Given the description of an element on the screen output the (x, y) to click on. 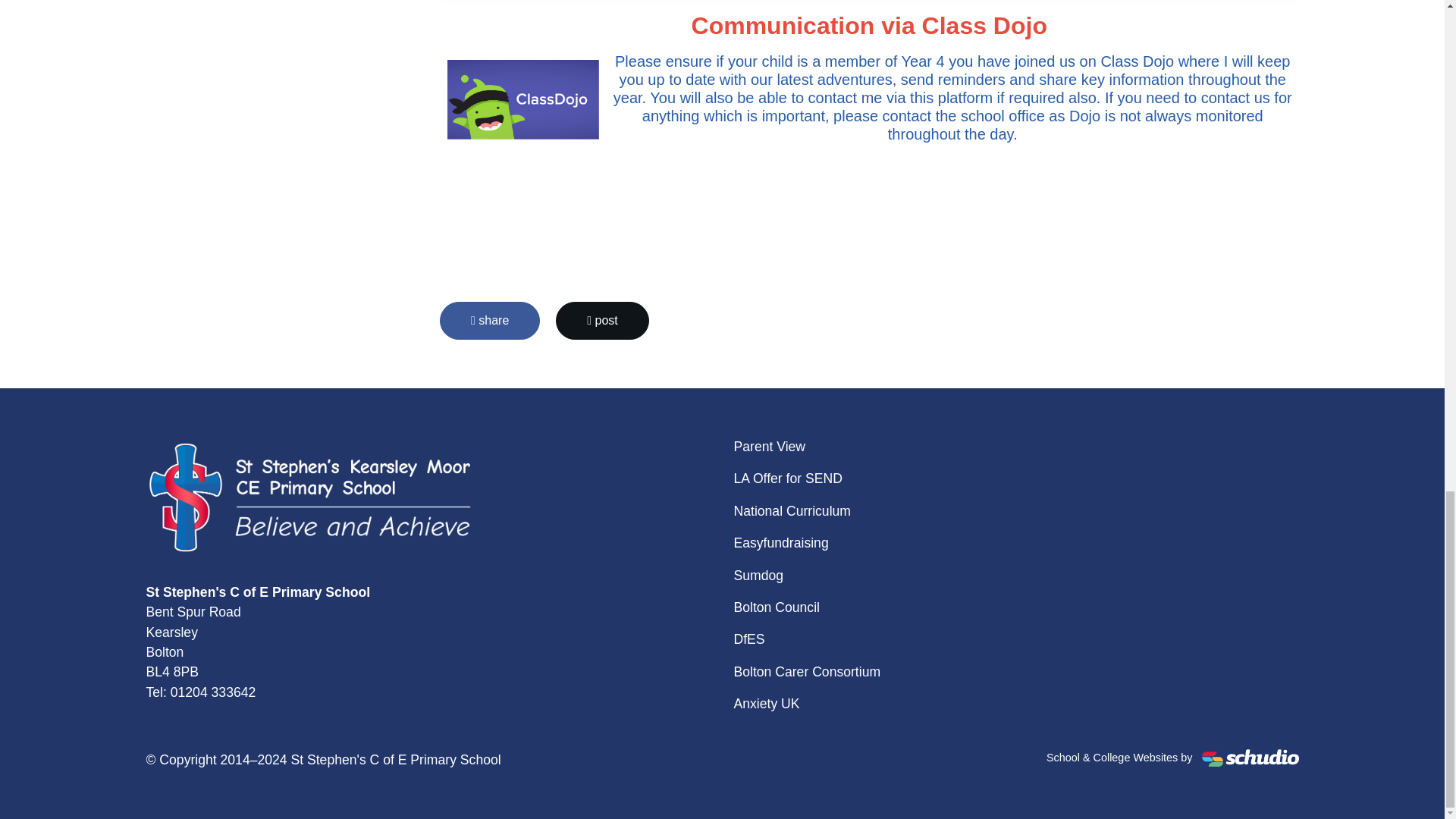
Share on Facebook (489, 320)
Post on X (602, 320)
